Given the description of an element on the screen output the (x, y) to click on. 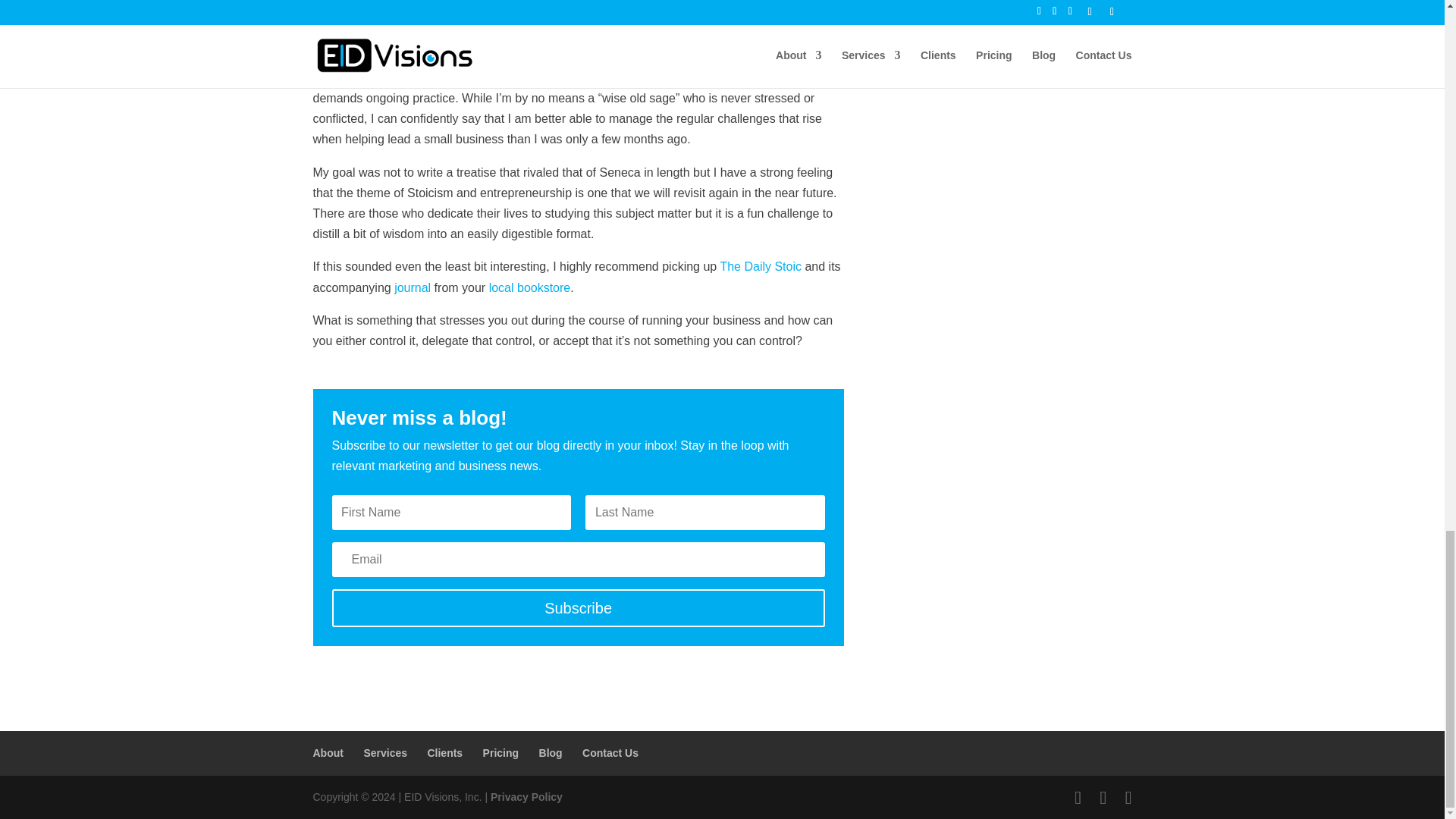
Subscribe (578, 607)
journal (412, 287)
local bookstore (529, 287)
The Daily Stoic (760, 266)
